Given the description of an element on the screen output the (x, y) to click on. 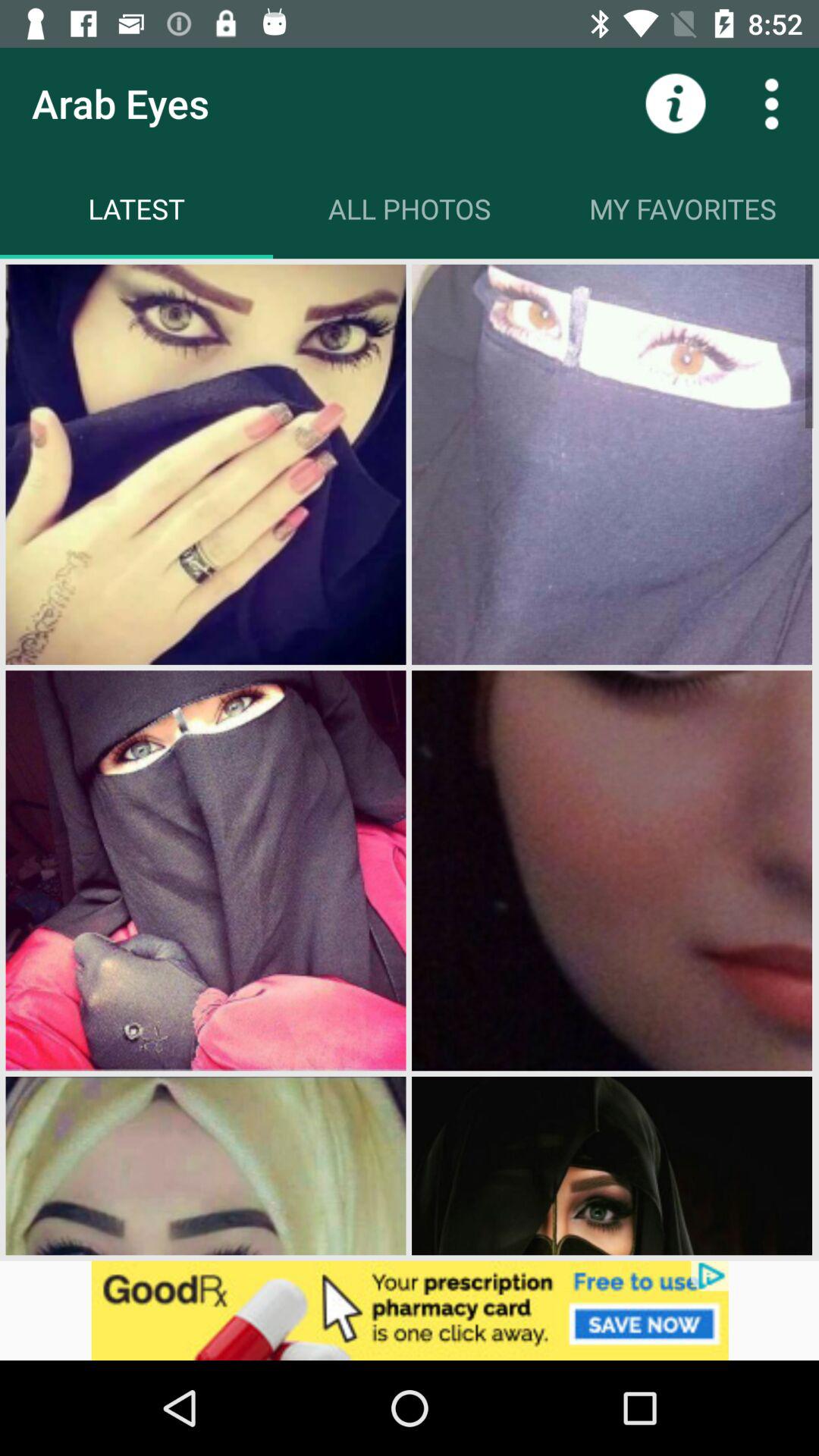
open the advertisements (409, 1310)
